Given the description of an element on the screen output the (x, y) to click on. 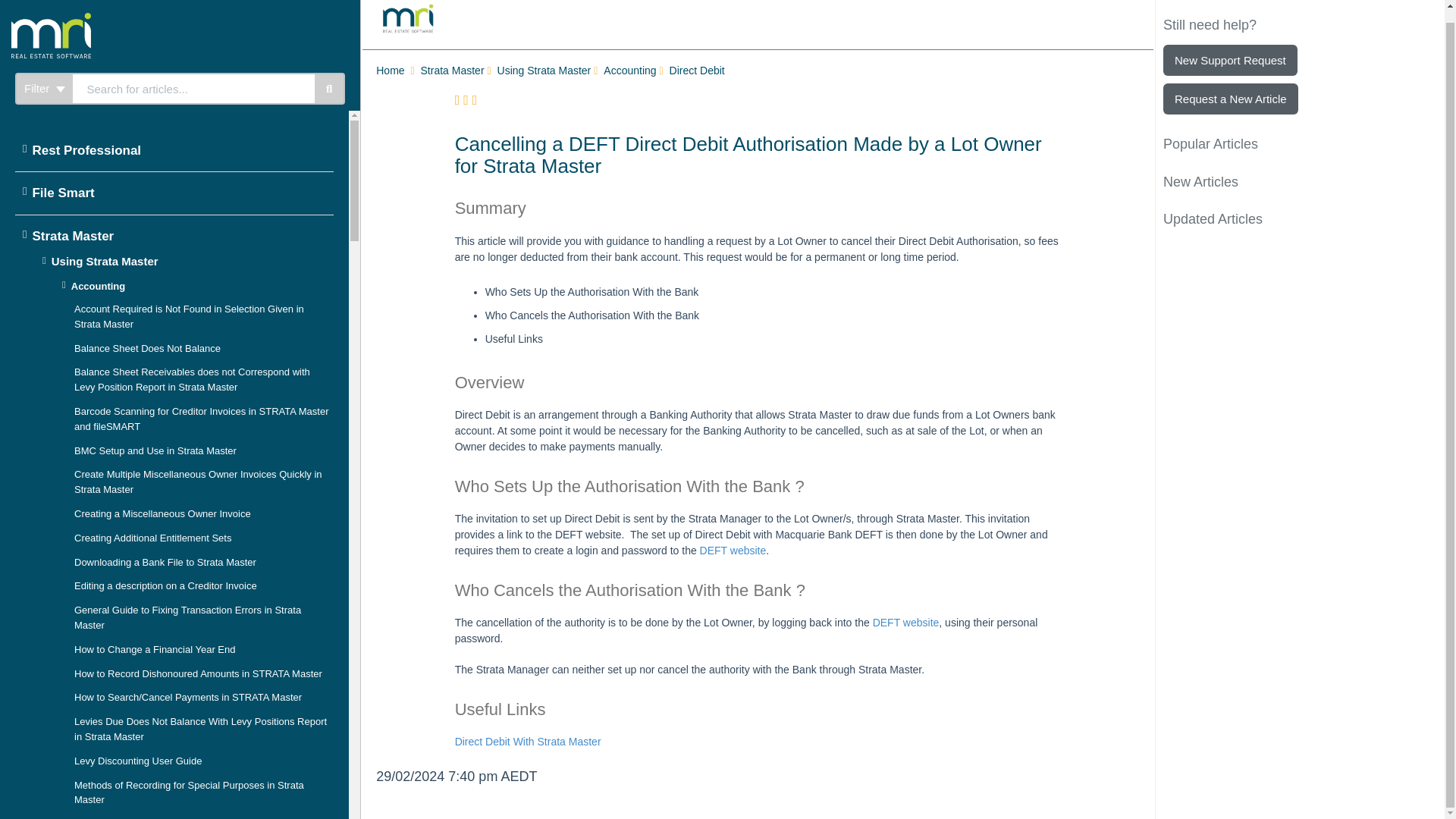
Your site (109, 12)
Direct Debit (698, 70)
Using Strata Master  (545, 70)
Rest Professional (170, 138)
Search (192, 76)
Refine search (43, 76)
Search (329, 76)
Strata Master (453, 70)
Accounting (631, 70)
Filter (43, 76)
